Given the description of an element on the screen output the (x, y) to click on. 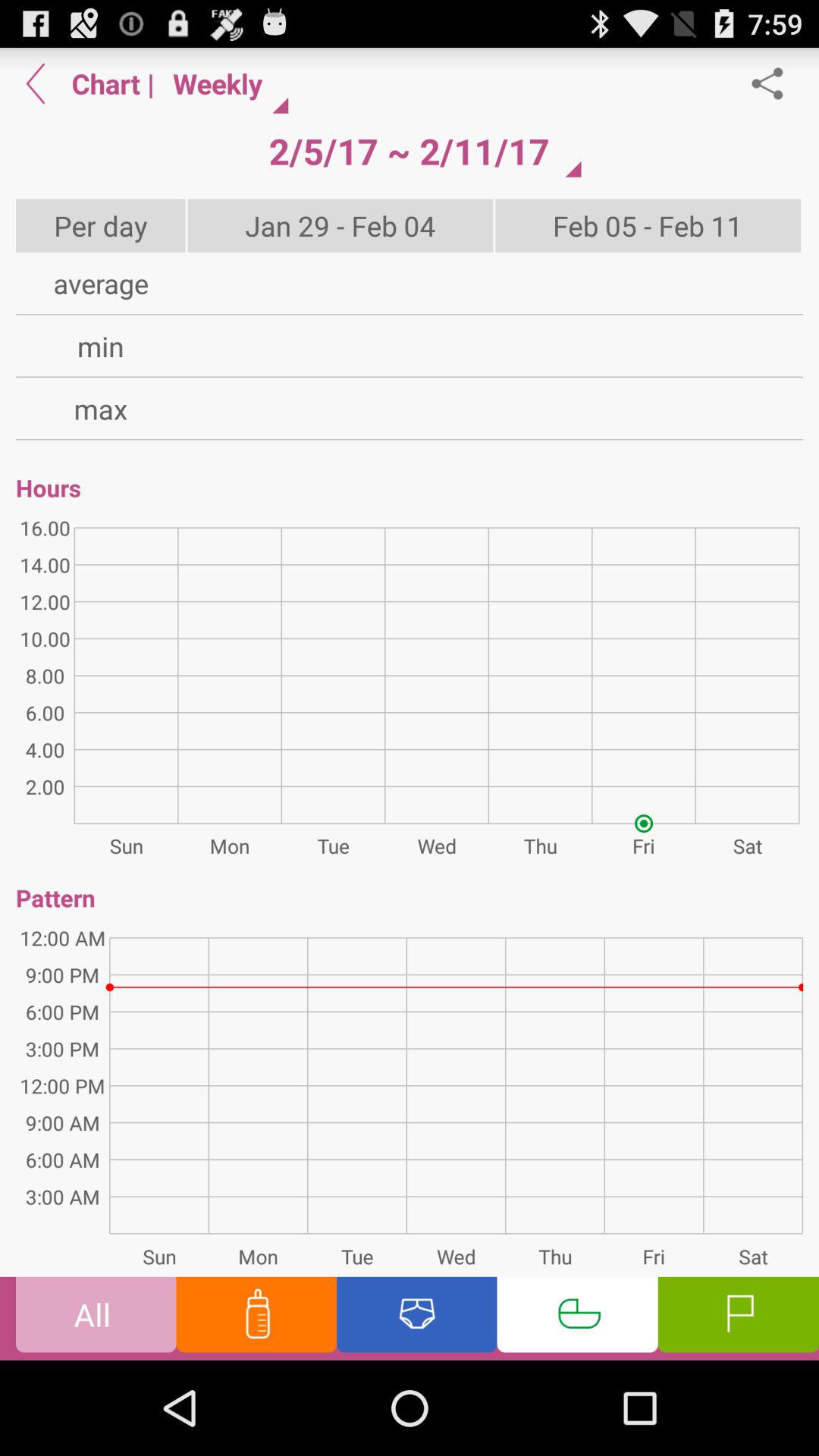
click item next to chart item (35, 83)
